Given the description of an element on the screen output the (x, y) to click on. 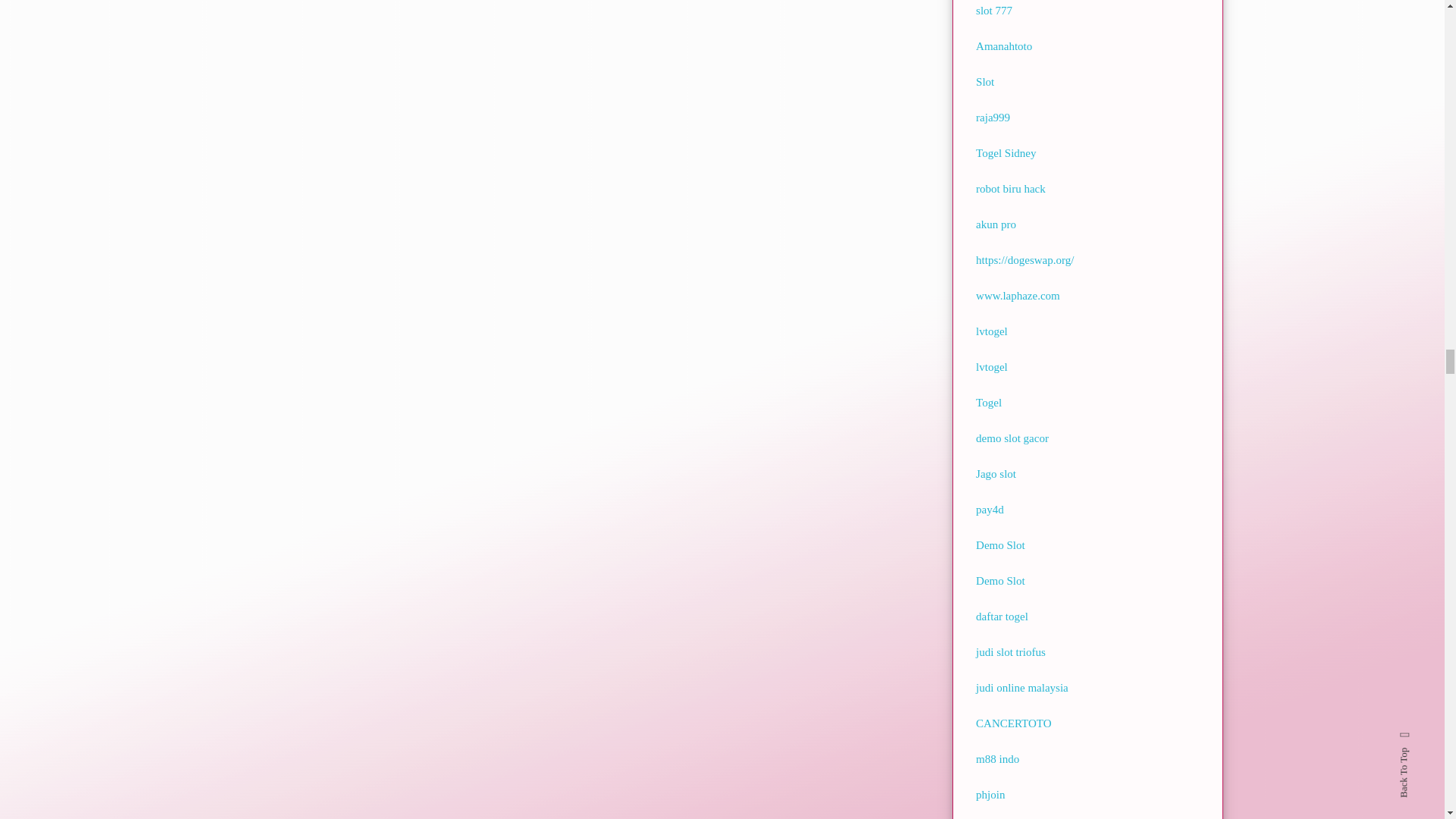
demo slot gacor (1011, 438)
